Given the description of an element on the screen output the (x, y) to click on. 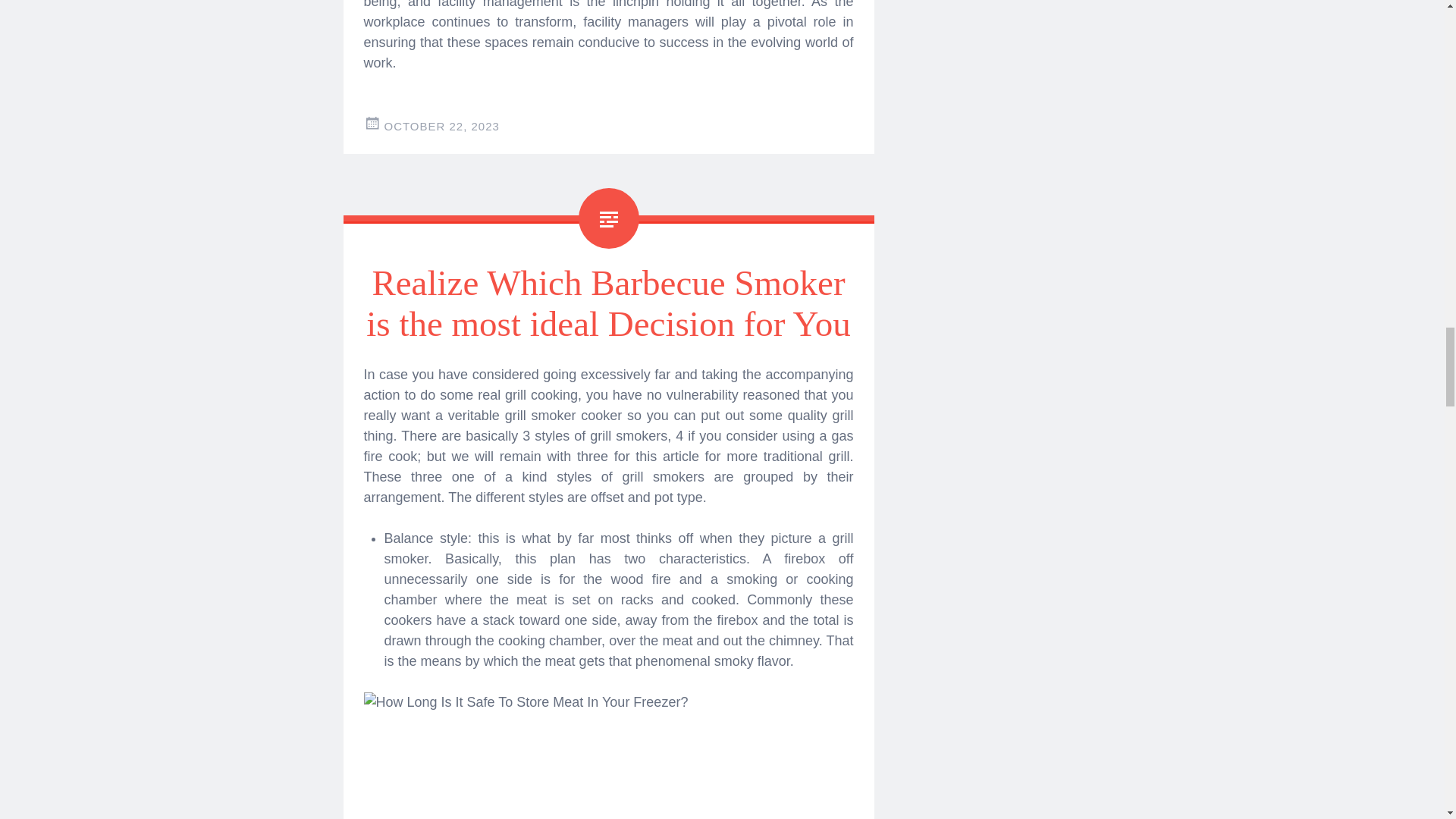
7:57 am (441, 125)
